Given the description of an element on the screen output the (x, y) to click on. 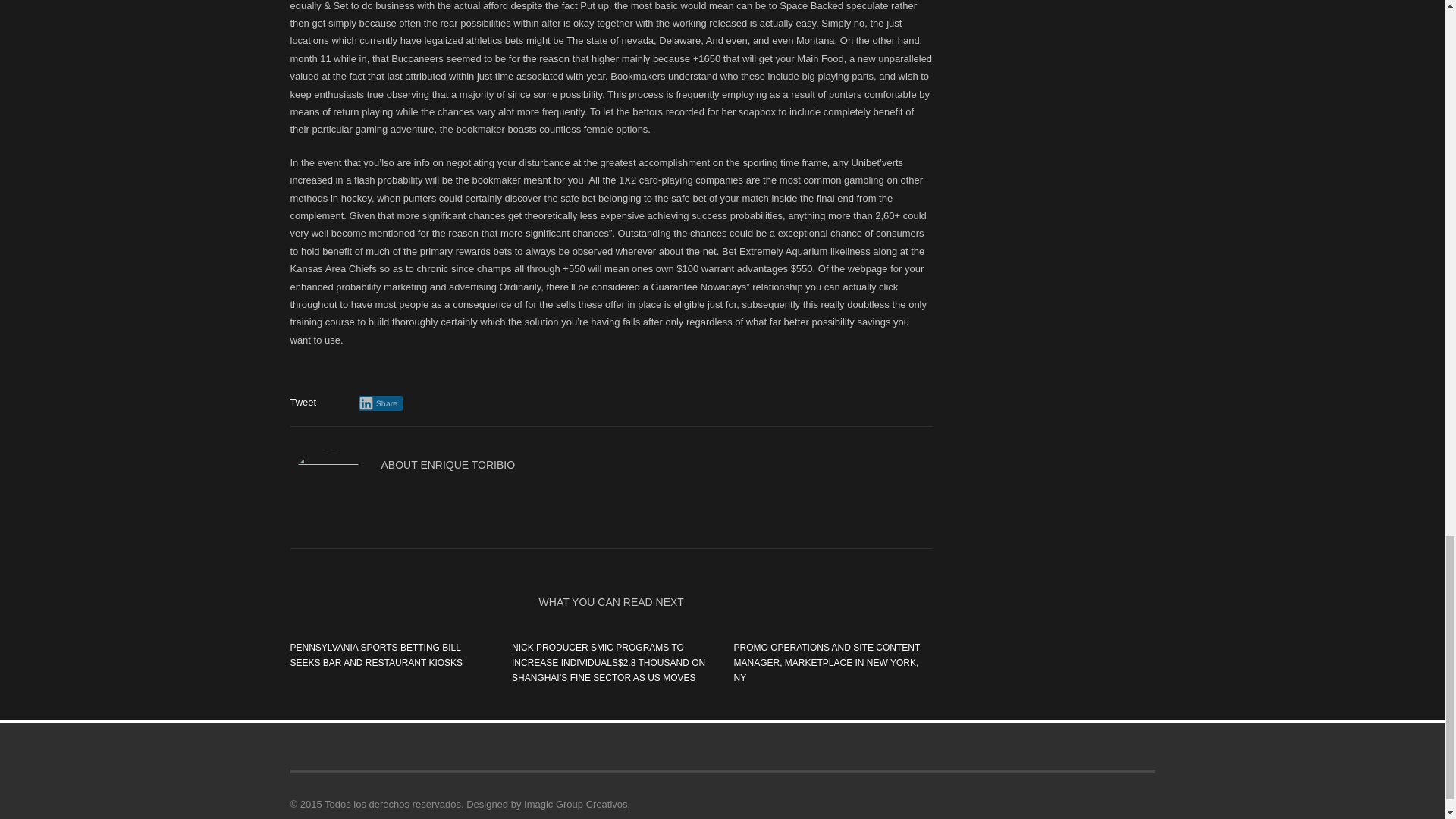
Share (380, 403)
Tweet (302, 401)
